Given the description of an element on the screen output the (x, y) to click on. 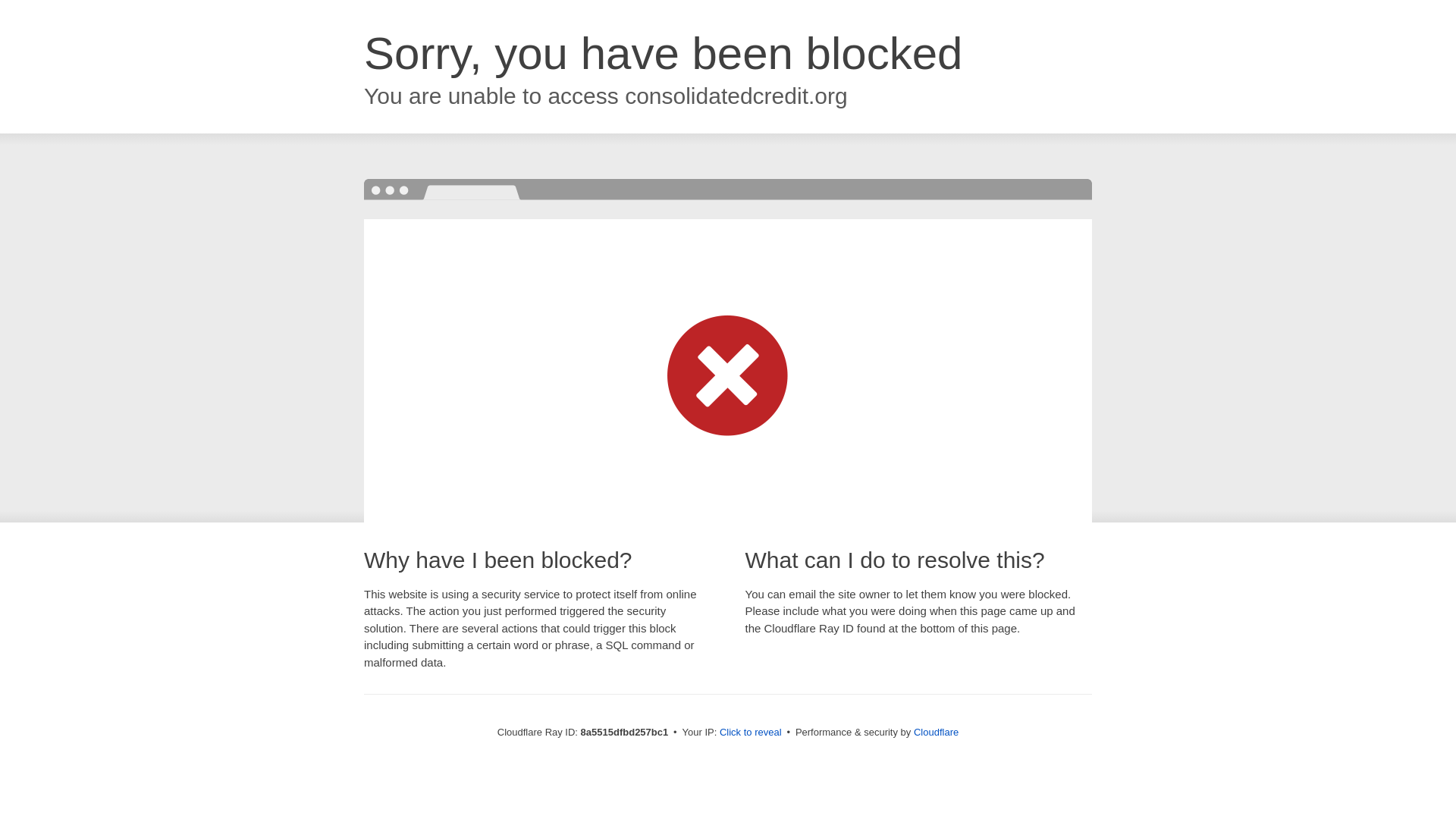
Cloudflare (936, 731)
Click to reveal (750, 732)
